Given the description of an element on the screen output the (x, y) to click on. 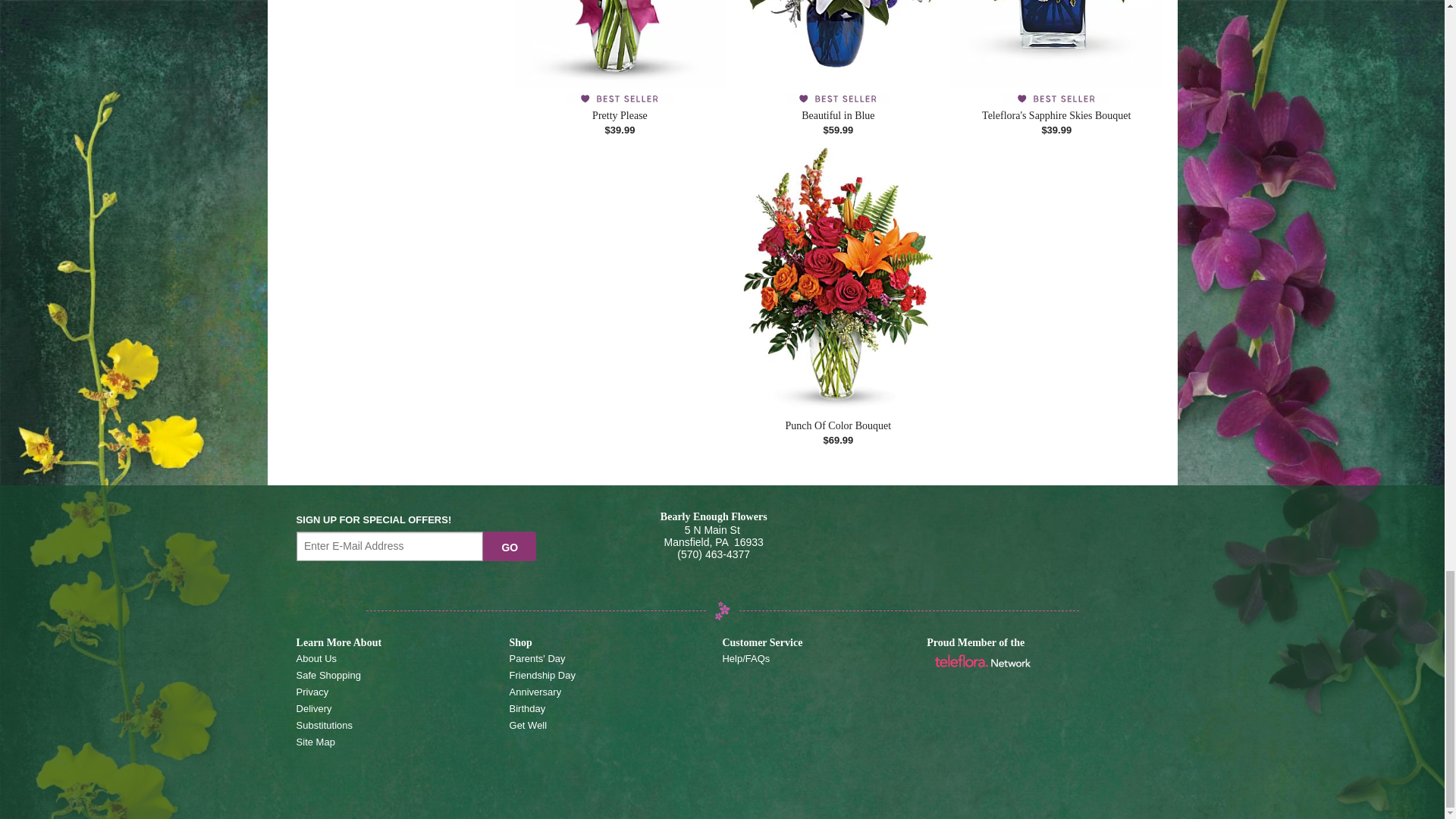
Go (509, 546)
Email Sign up (390, 546)
go (509, 546)
